Given the description of an element on the screen output the (x, y) to click on. 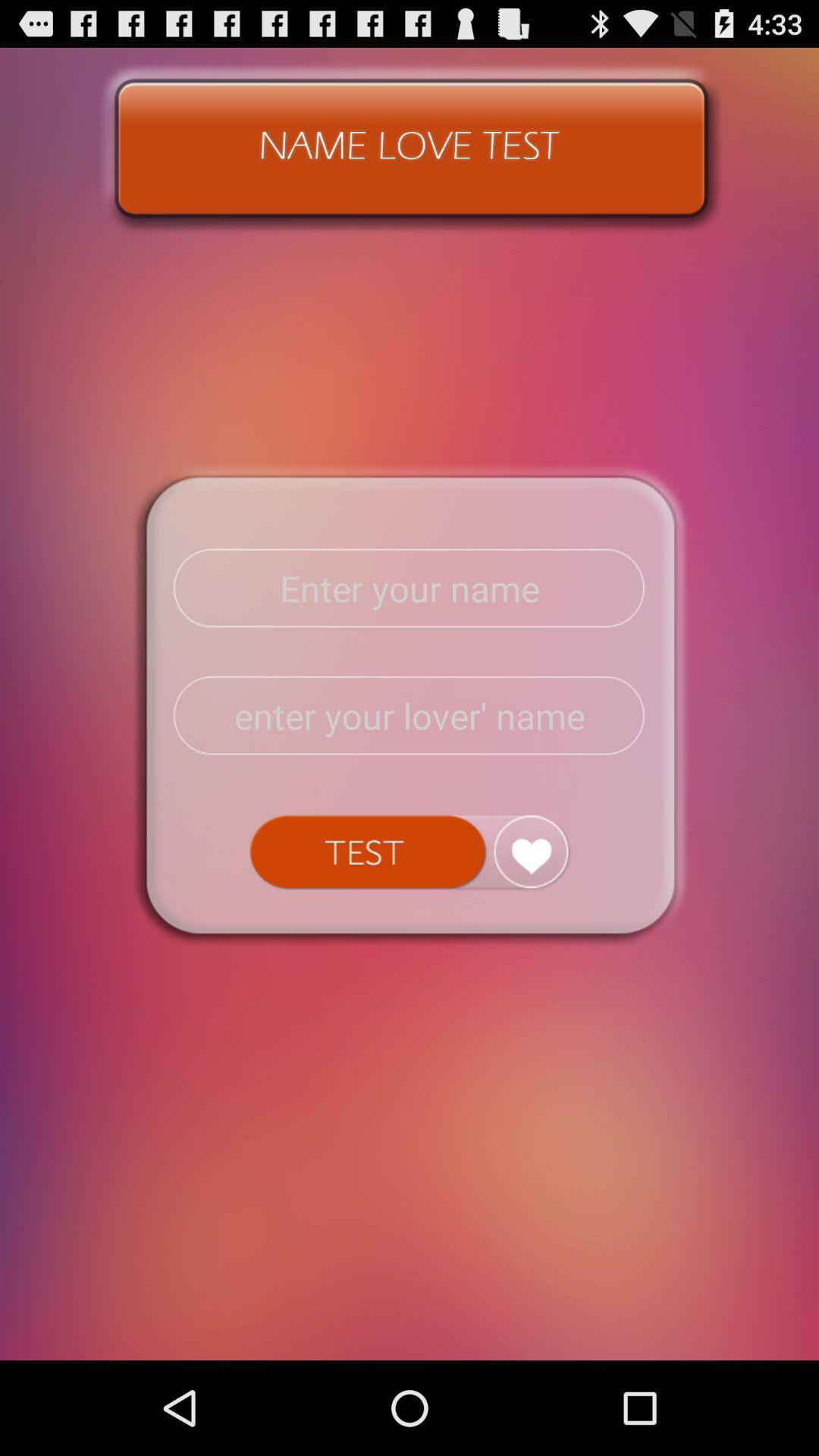
enter your lover 's name (409, 715)
